Given the description of an element on the screen output the (x, y) to click on. 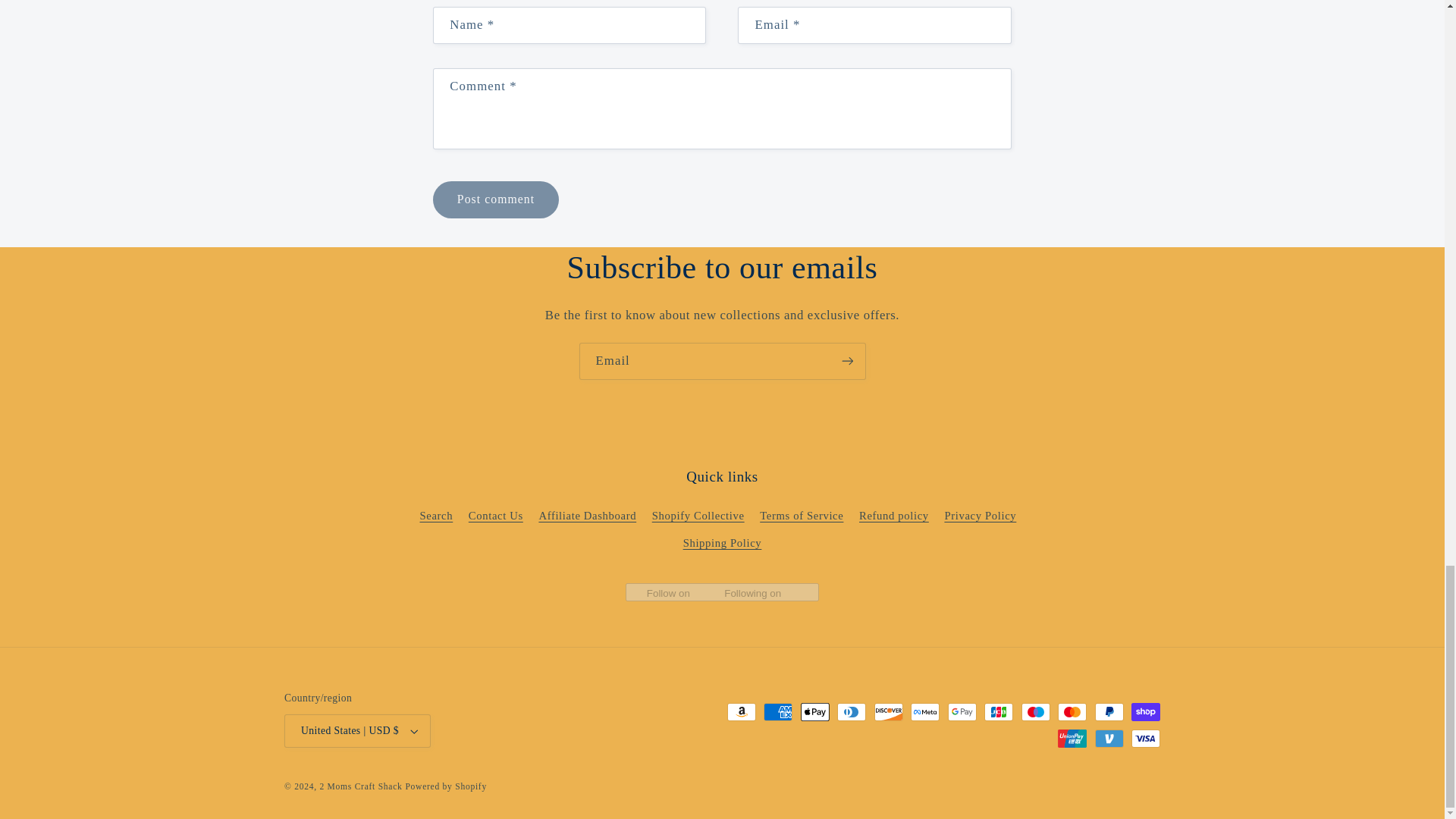
Post comment (494, 199)
